Given the description of an element on the screen output the (x, y) to click on. 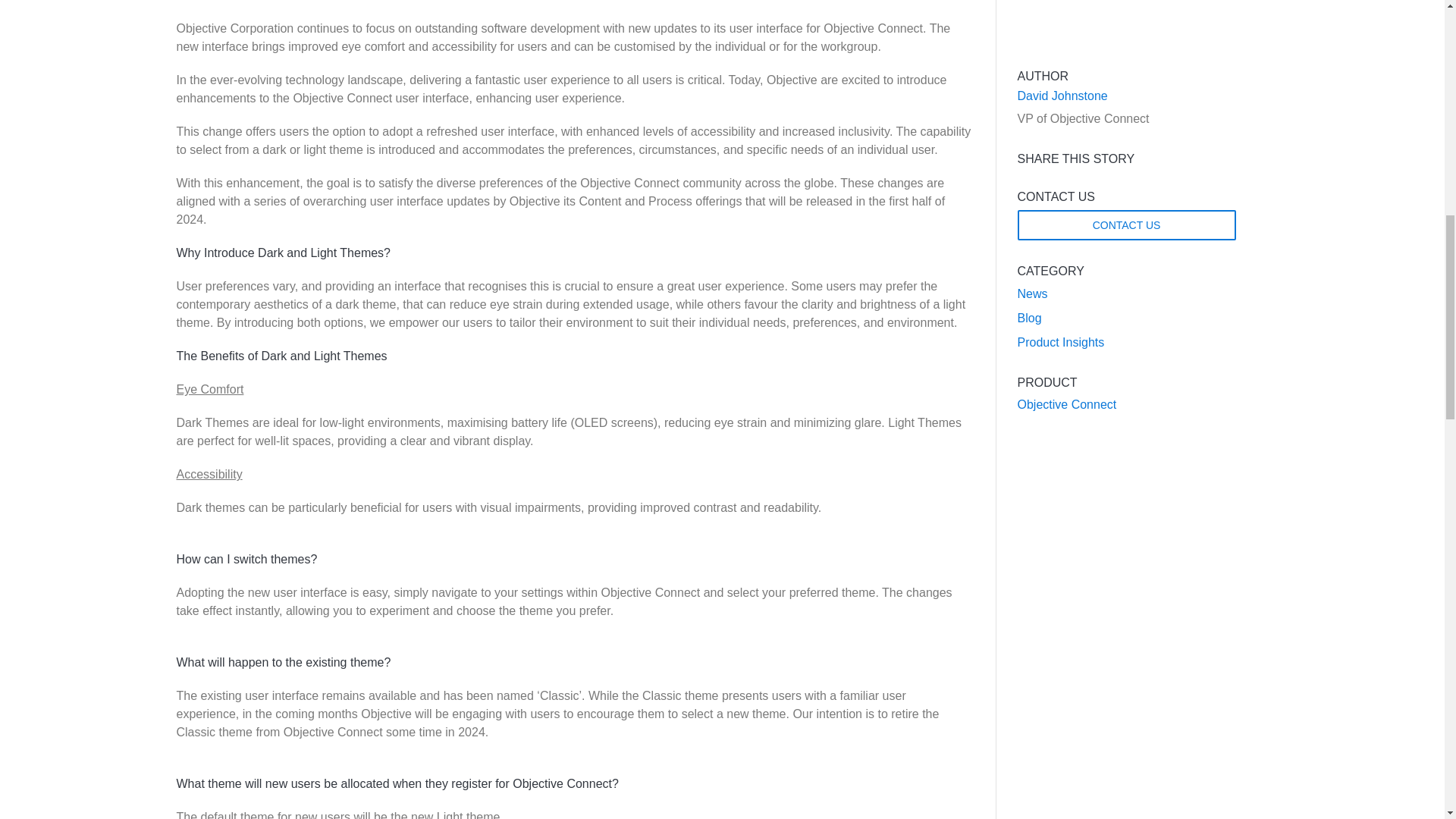
Objective Connect (1066, 404)
Product Insights (1061, 341)
Blog (1029, 318)
David Johnstone (1142, 96)
GOT IT (1056, 53)
CONTACT US (1126, 224)
News (1032, 293)
Privacy Policy (889, 52)
